Given the description of an element on the screen output the (x, y) to click on. 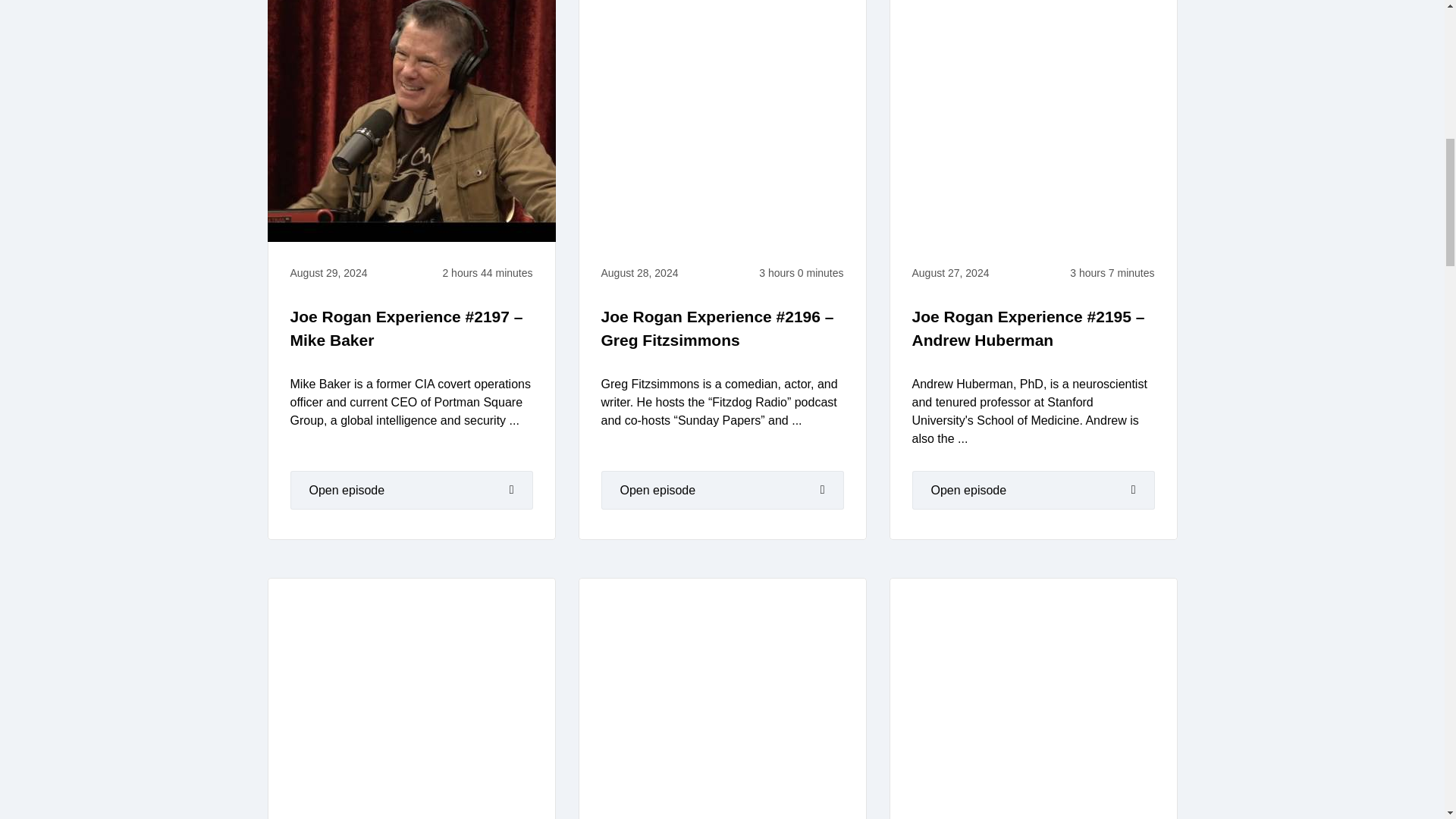
Open episode (721, 490)
Open episode (1032, 490)
Open episode (410, 490)
